Given the description of an element on the screen output the (x, y) to click on. 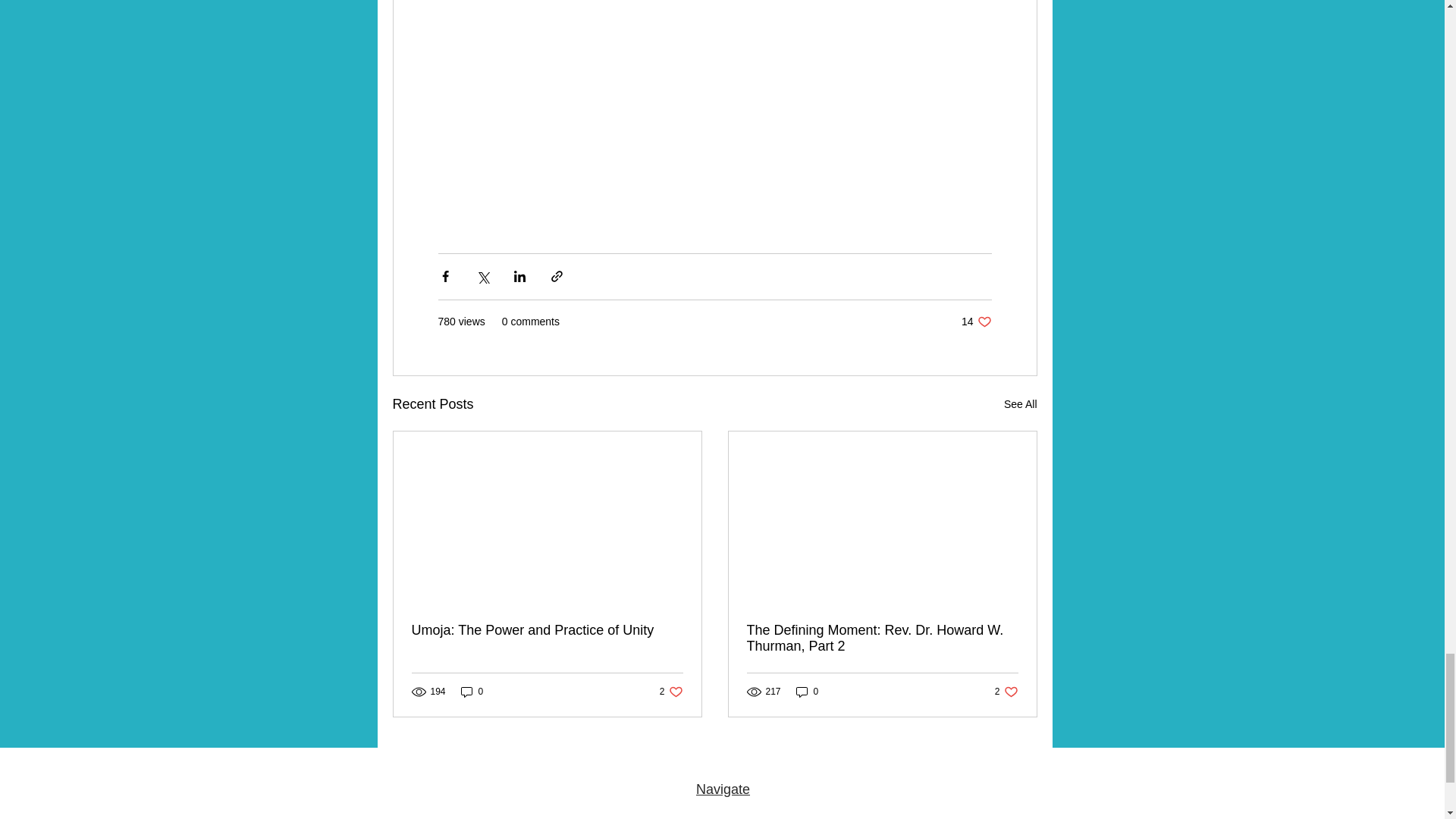
Home (486, 812)
The Defining Moment: Rev. Dr. Howard W. Thurman, Part 2 (881, 638)
Umoja: The Power and Practice of Unity (546, 630)
0 (807, 691)
Episodes (1005, 691)
See All (685, 812)
Gallery (1020, 404)
Mission (612, 812)
Blog (761, 812)
0 (548, 812)
